Given the description of an element on the screen output the (x, y) to click on. 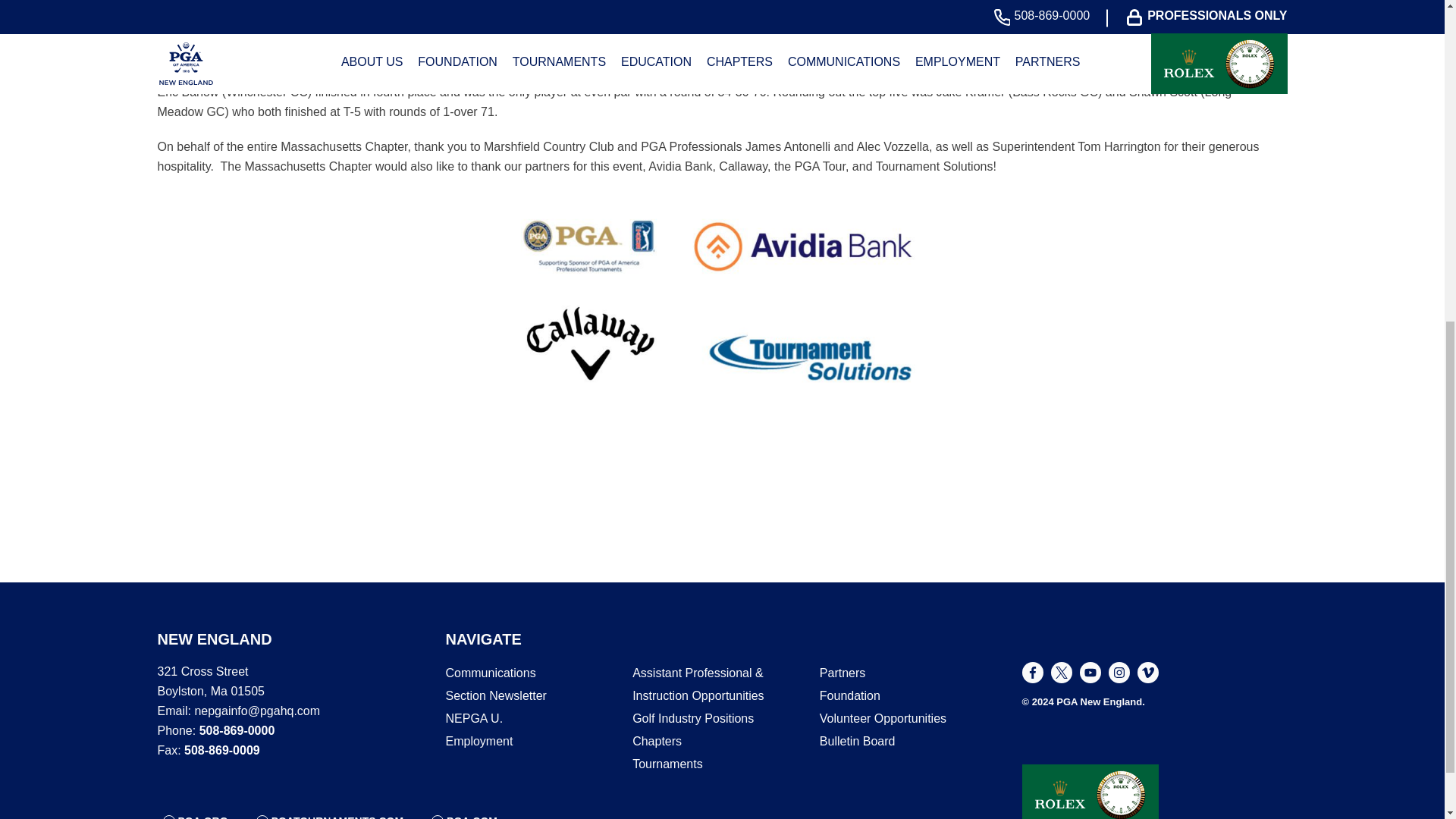
Facebook (1032, 672)
Instagram (1118, 672)
YouTube (1090, 672)
Vimeo (1147, 672)
Twitter (1061, 672)
